Given the description of an element on the screen output the (x, y) to click on. 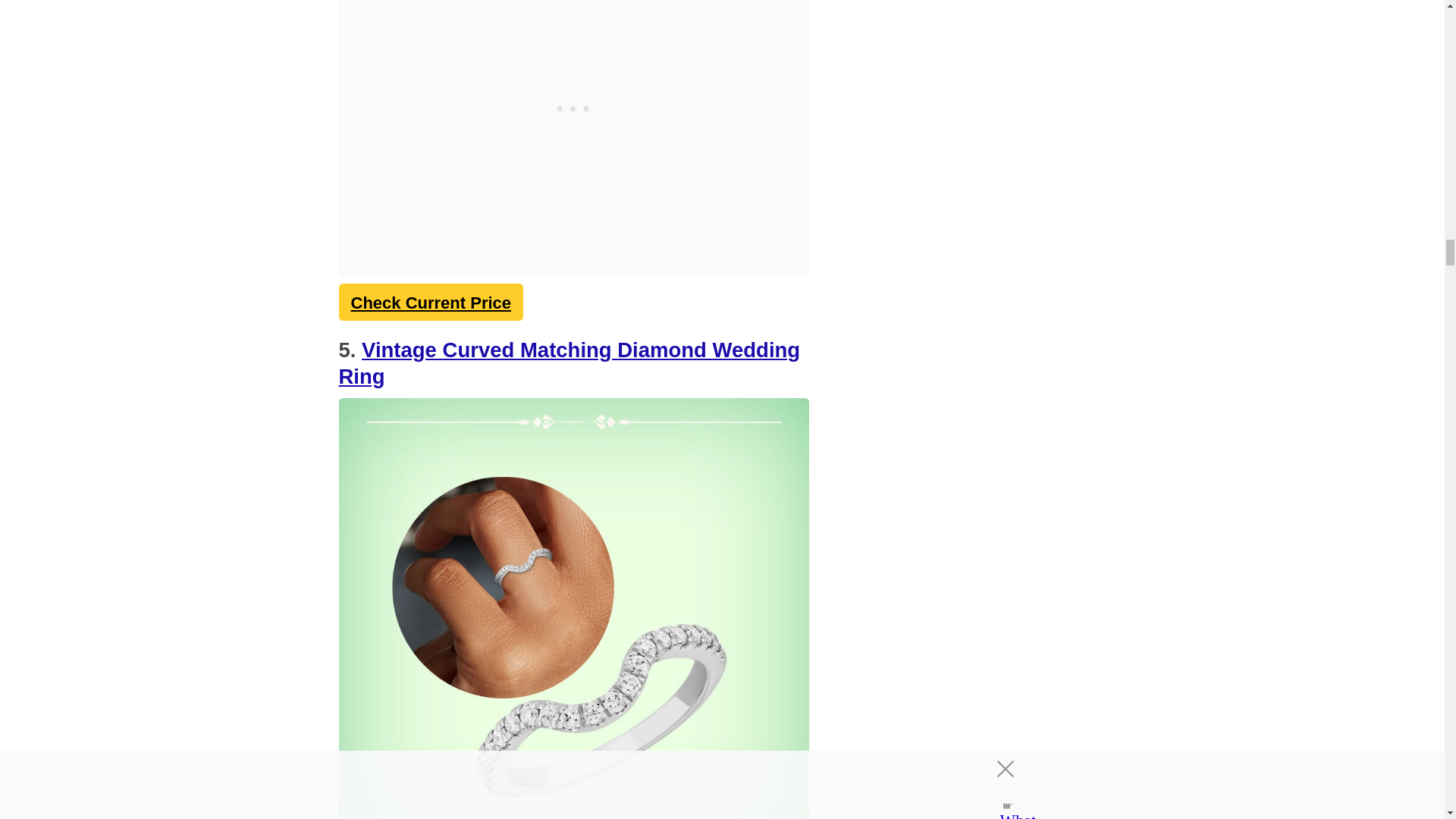
Check Current Price (429, 302)
Vintage Curved Matching Diamond Wedding Ring (568, 362)
